Given the description of an element on the screen output the (x, y) to click on. 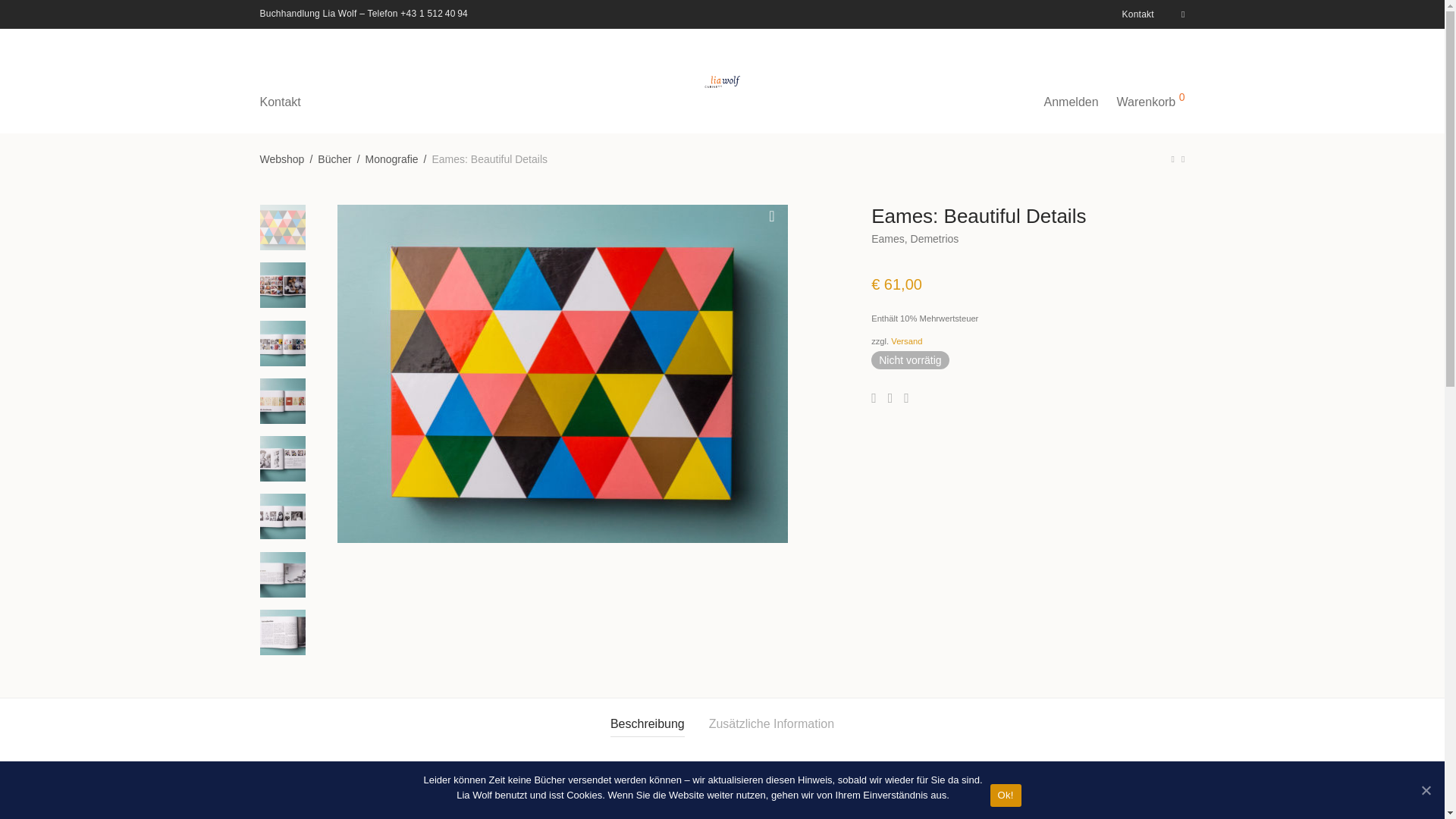
Versand (906, 340)
Anmelden (1071, 80)
Warenkorb 0 (1150, 80)
Monografie (392, 158)
Kontakt (1134, 13)
Beschreibung (647, 724)
Webshop (281, 158)
Buchhandlung Lia Wolf (307, 13)
